Given the description of an element on the screen output the (x, y) to click on. 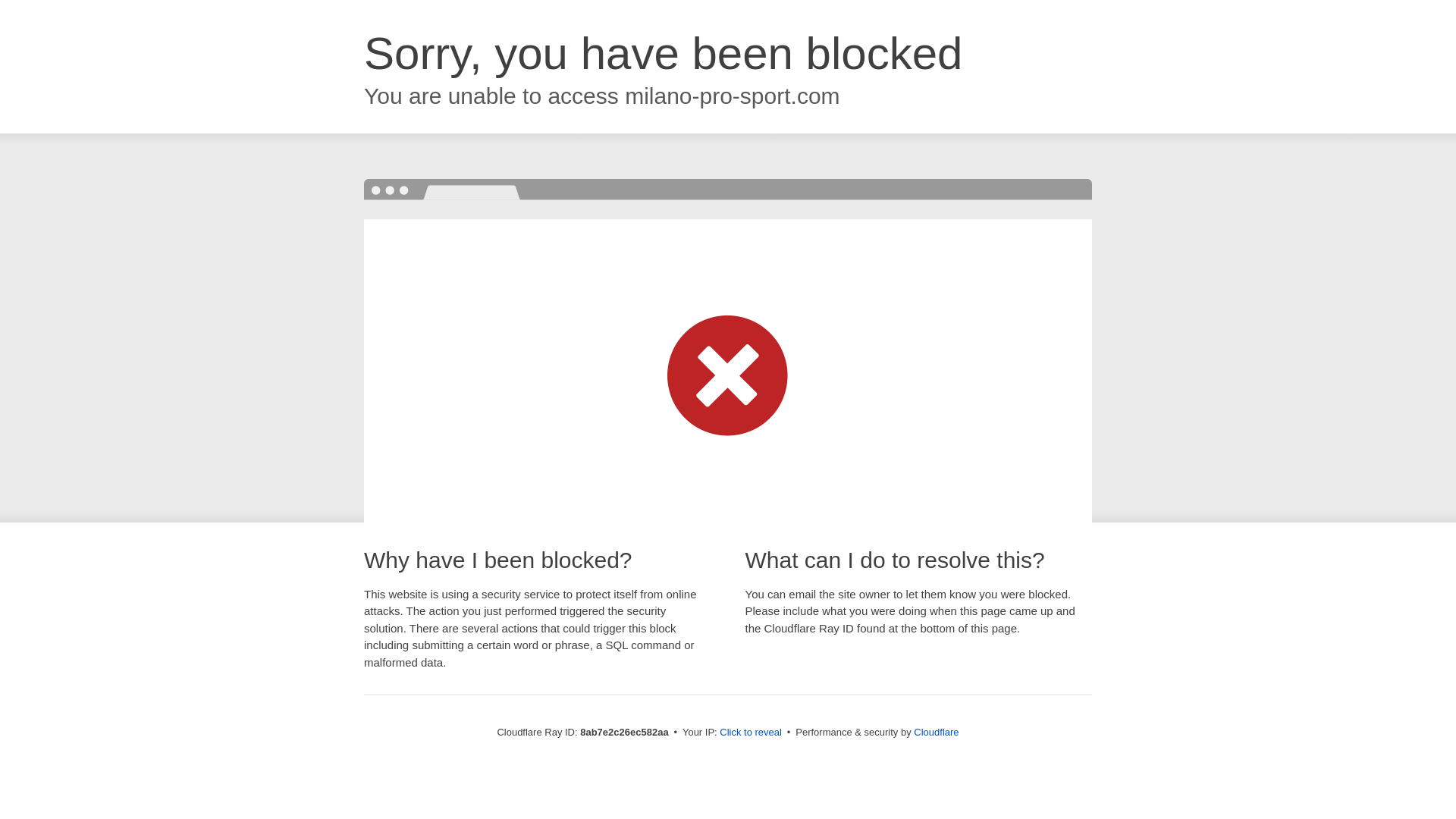
Click to reveal (750, 732)
Cloudflare (936, 731)
